Given the description of an element on the screen output the (x, y) to click on. 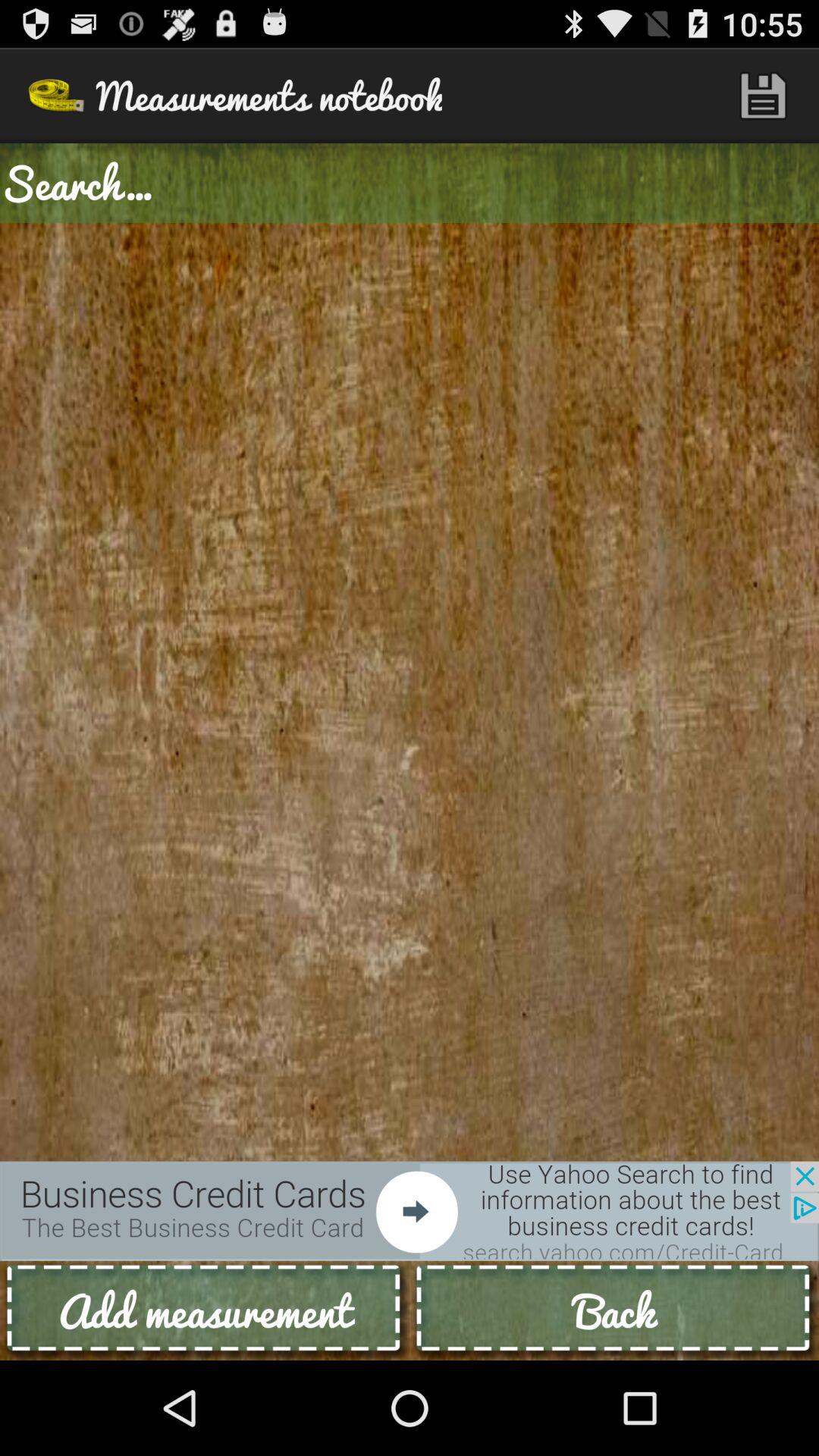
open advertisement (409, 1210)
